Given the description of an element on the screen output the (x, y) to click on. 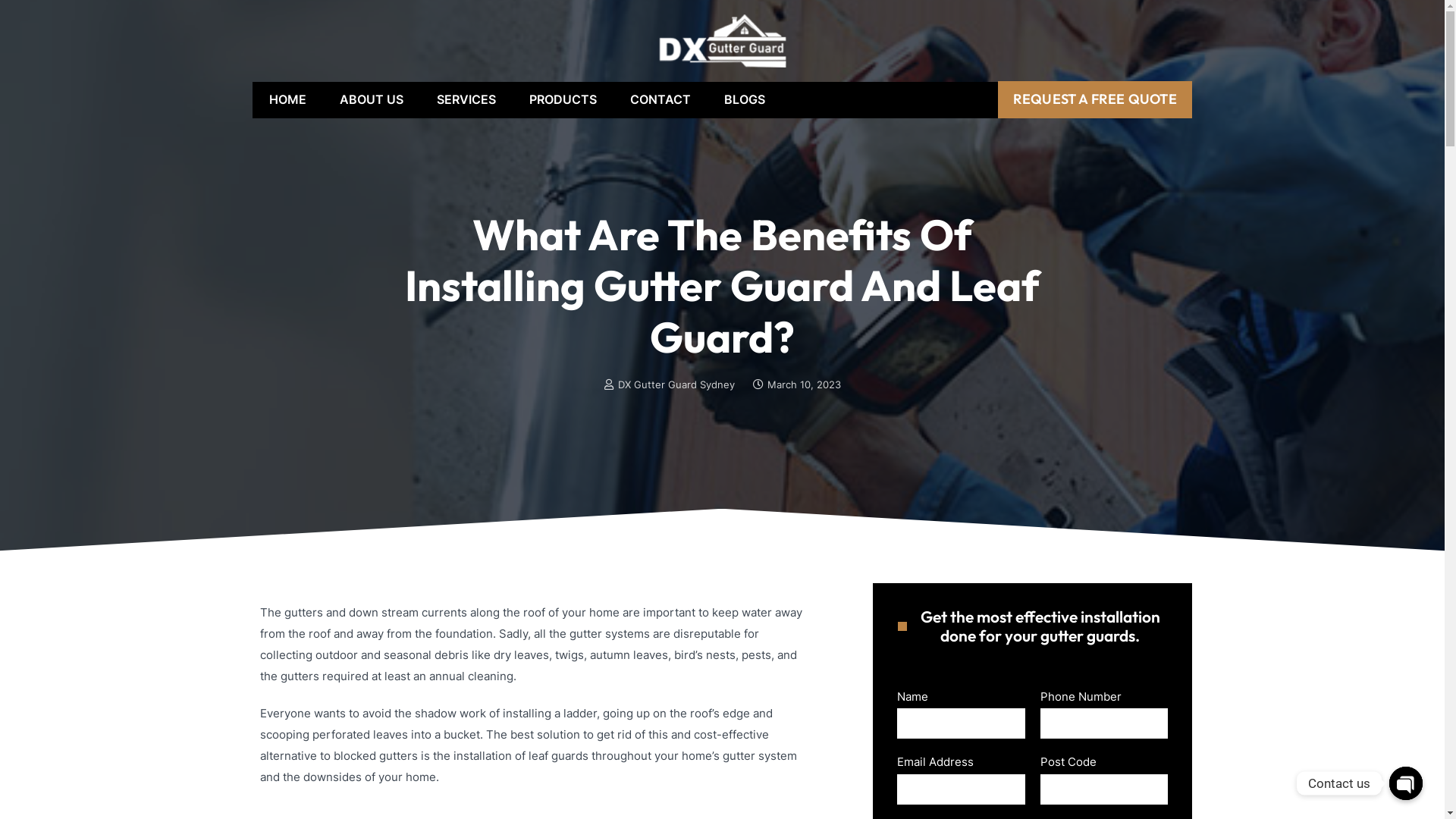
REQUEST A FREE QUOTE Element type: text (1094, 99)
PRODUCTS Element type: text (562, 99)
DX Gutter Guard Sydney Element type: text (668, 384)
BLOGS Element type: text (743, 99)
SERVICES Element type: text (466, 99)
CONTACT Element type: text (659, 99)
ABOUT US Element type: text (371, 99)
HOME Element type: text (286, 99)
